Given the description of an element on the screen output the (x, y) to click on. 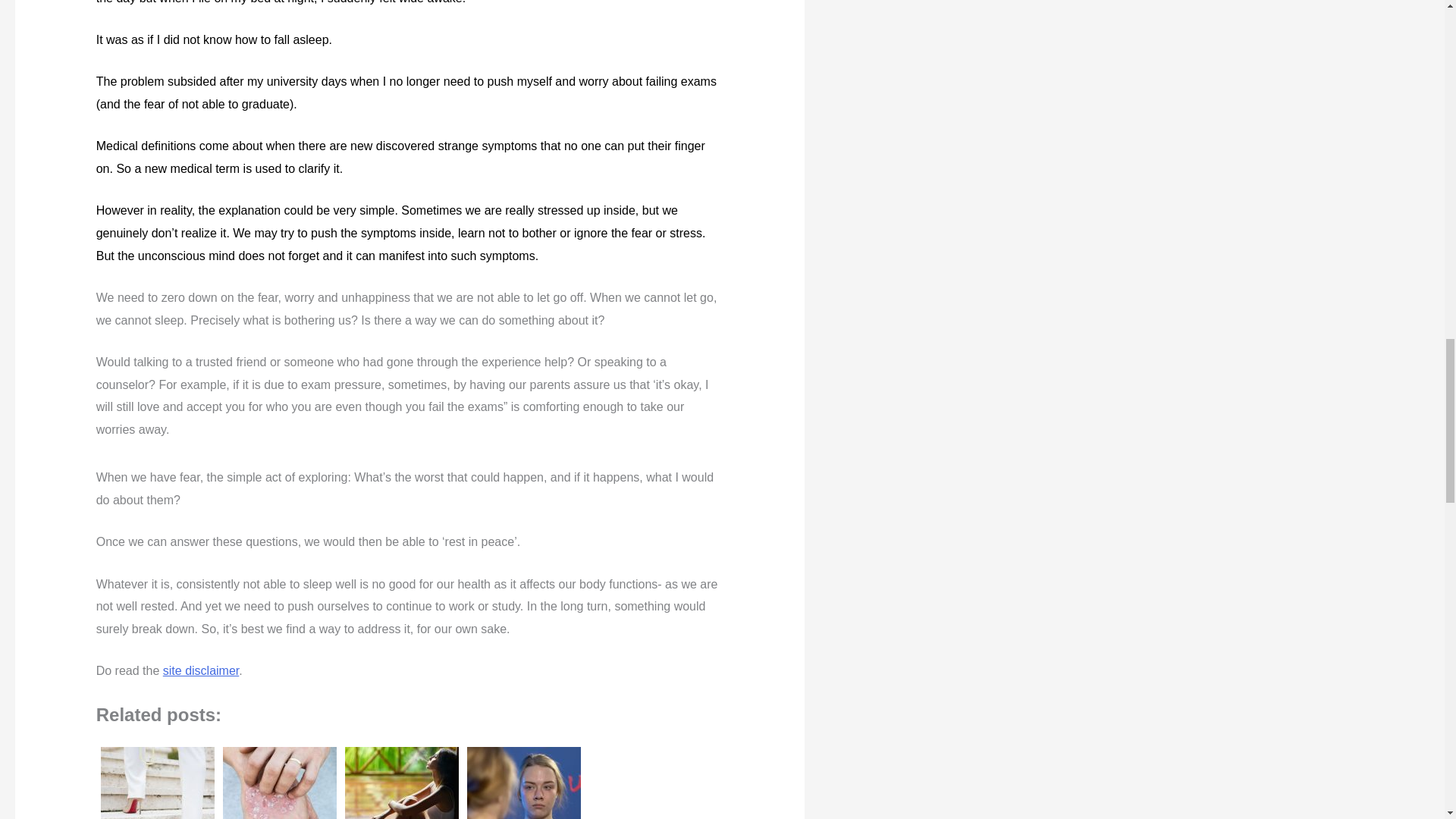
Why people walk or run with loud footsteps? (157, 780)
Psoriasis- Mind Body and Emotion Causes (279, 780)
site disclaimer (200, 670)
It is okay to be unpretty or ugly (524, 780)
Of the tired heart and unable to quit smoking (401, 780)
